Given the description of an element on the screen output the (x, y) to click on. 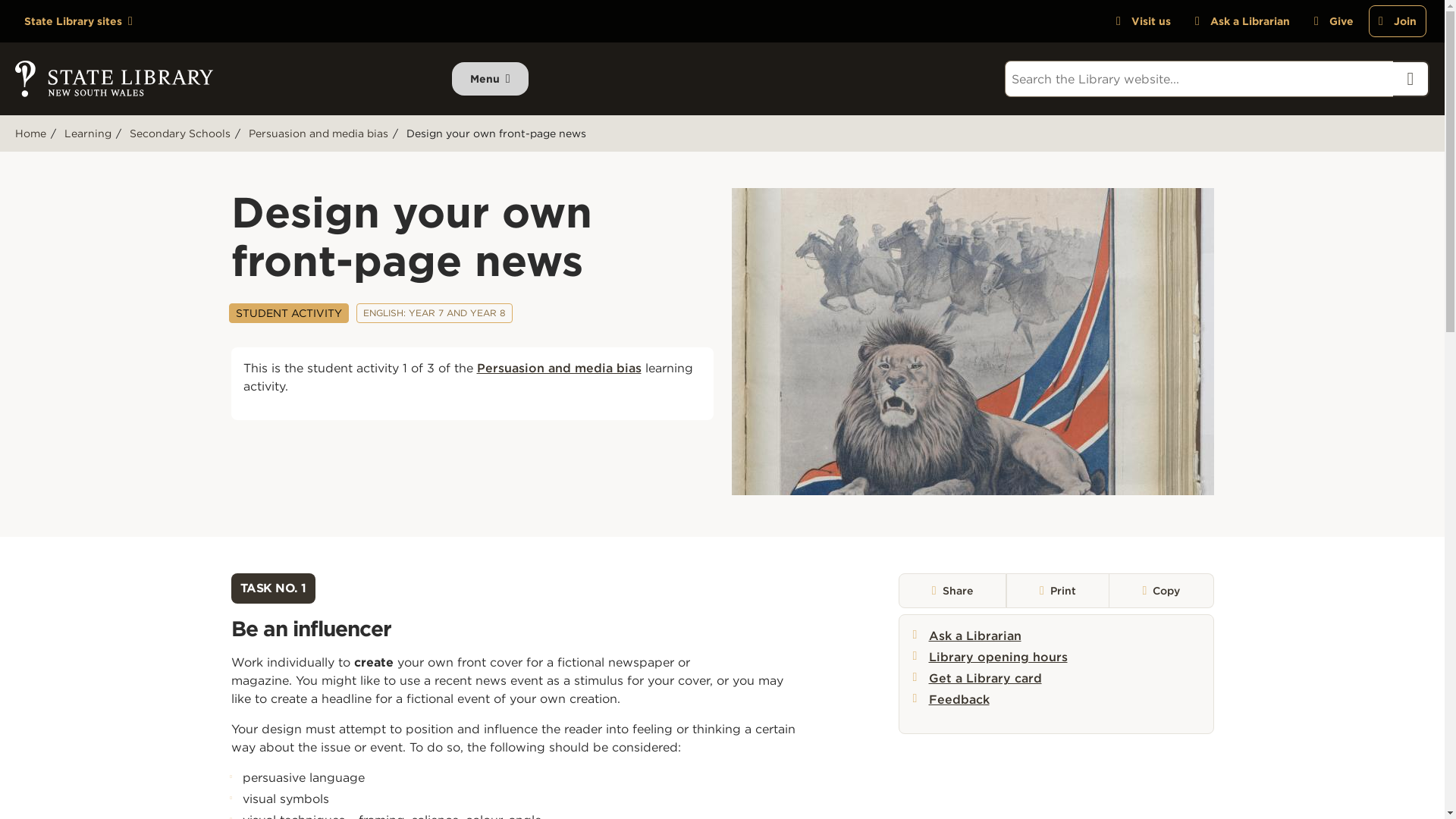
  Give (1333, 20)
State Library sites (77, 21)
  Visit us (1142, 20)
  Ask a Librarian (1242, 20)
Menu (489, 78)
  Join (1397, 20)
